Given the description of an element on the screen output the (x, y) to click on. 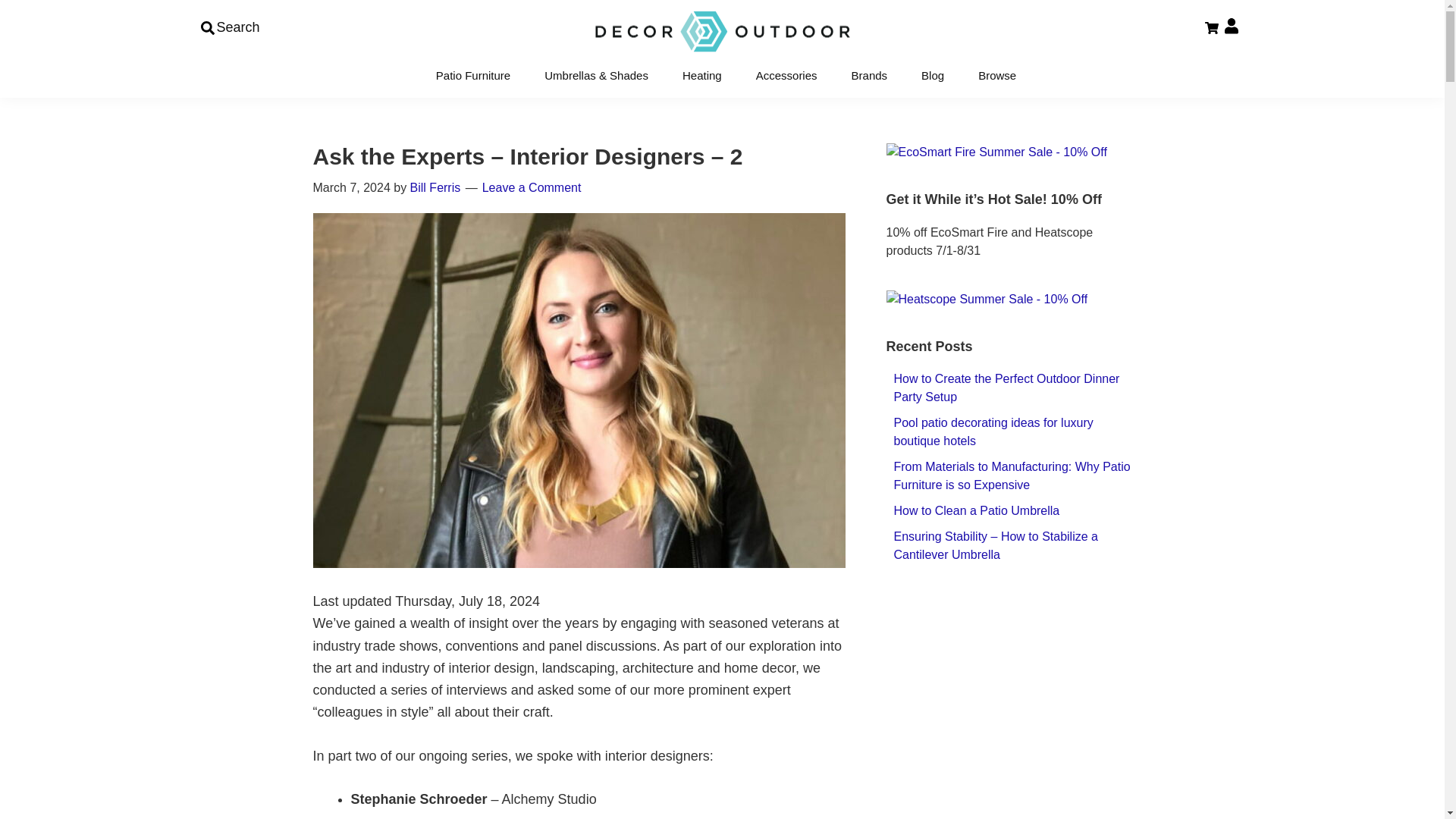
Brands (869, 75)
Accessories (786, 75)
Patio Furniture (473, 75)
Heating (702, 75)
